Given the description of an element on the screen output the (x, y) to click on. 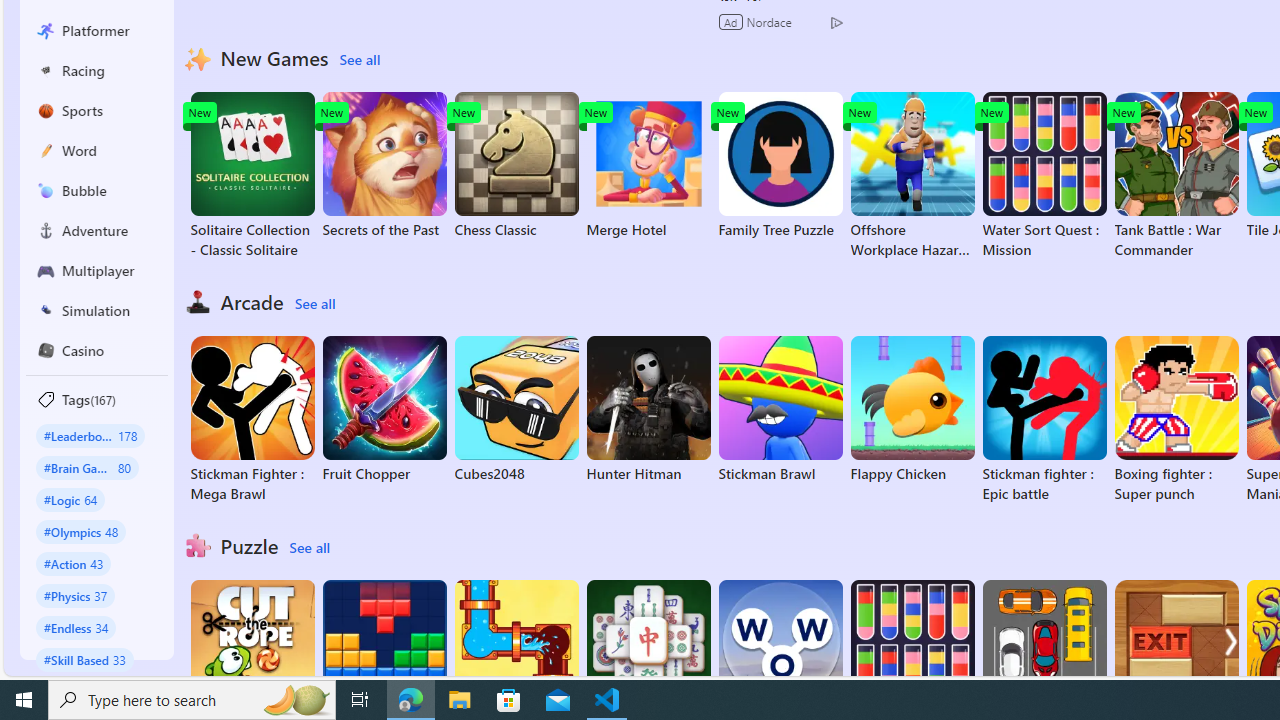
Hunter Hitman (648, 409)
Boxing fighter : Super punch (1176, 419)
Solitaire Collection - Classic Solitaire (251, 175)
Water Sort Quest : Mission (1044, 175)
Family Tree Puzzle (780, 165)
Merge Hotel (648, 165)
Stickman Brawl (780, 409)
See all (309, 547)
Cubes2048 (516, 409)
#Brain Games 80 (87, 467)
Stickman Fighter : Mega Brawl (251, 419)
Secrets of the Past (384, 165)
